Given the description of an element on the screen output the (x, y) to click on. 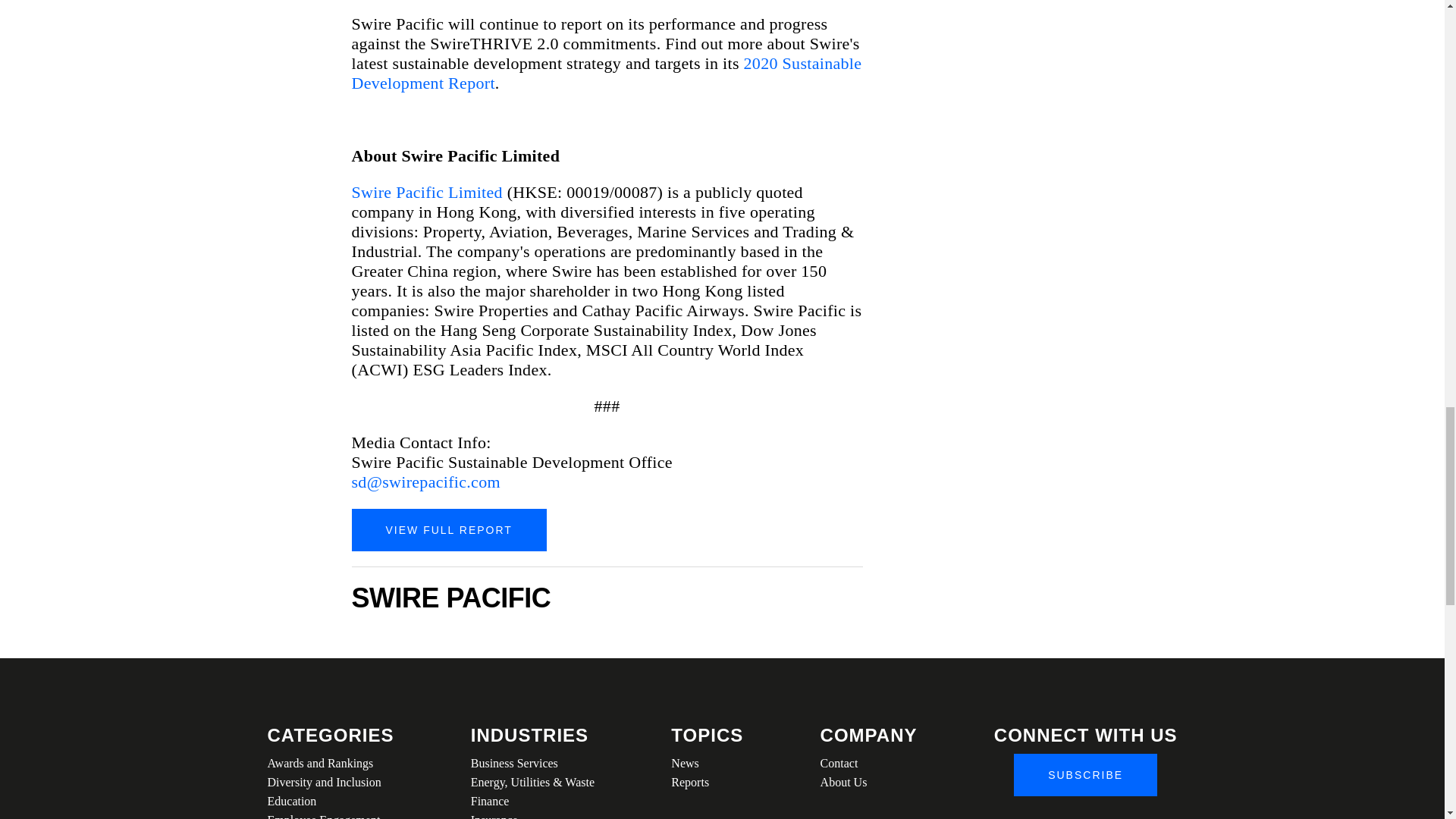
VIEW FULL REPORT (449, 529)
Diversity and Inclusion (329, 782)
VIEW FULL REPORT (449, 529)
Swire Pacific Limited (427, 191)
CATEGORIES (329, 735)
2020 Sustainable Development Report (606, 73)
Awards and Rankings (329, 763)
